Given the description of an element on the screen output the (x, y) to click on. 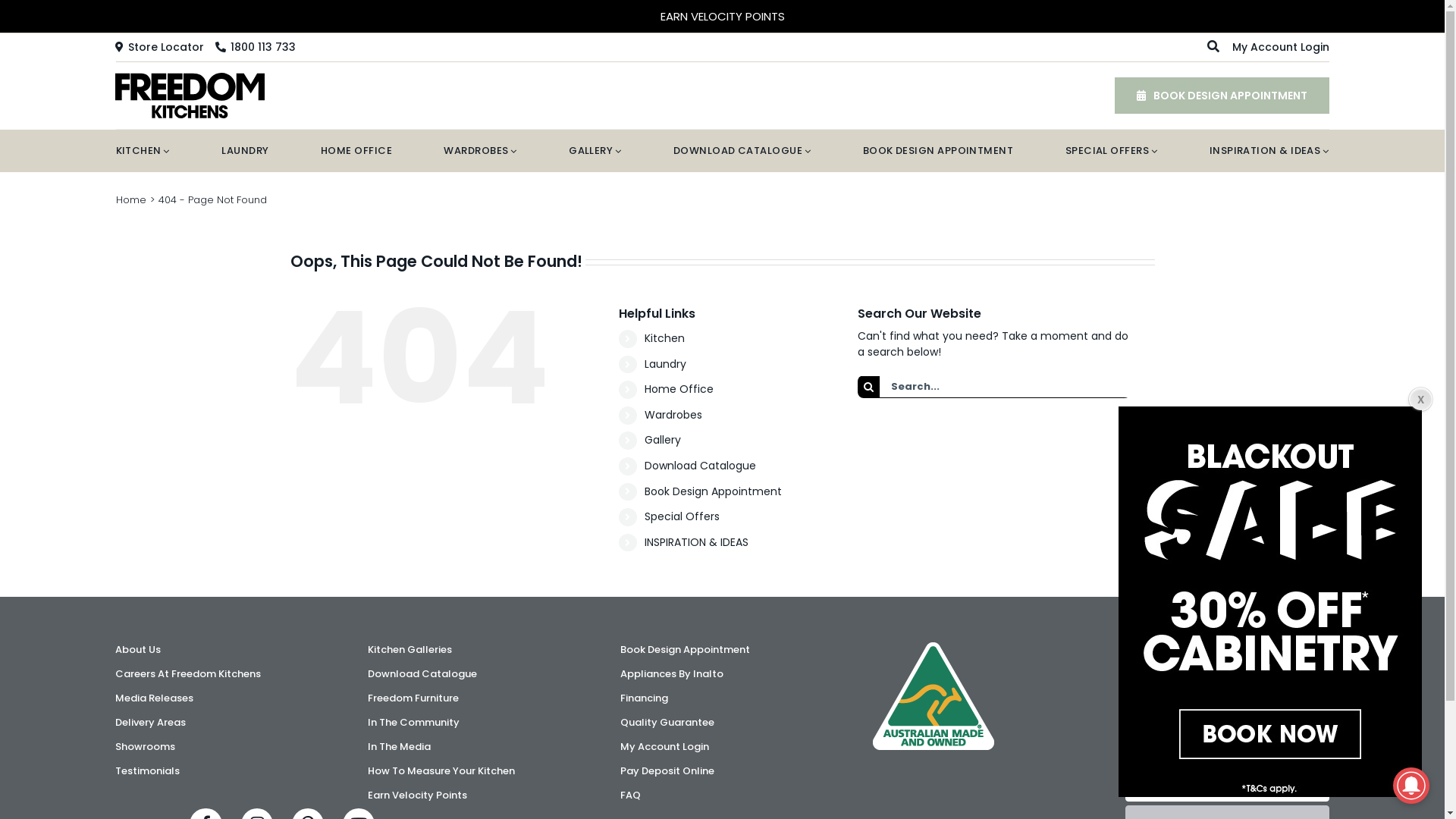
BOOK DESIGN APPOINTMENT Element type: text (937, 150)
KITCHEN Element type: text (142, 150)
Earn Velocity Points Element type: text (469, 795)
How To Measure Your Kitchen Element type: text (469, 770)
My Account Login Element type: text (1280, 46)
Kitchen Galleries Element type: text (469, 649)
Download Catalogue Element type: text (469, 673)
BOOK DESIGN APPOINTMENT Element type: text (1221, 95)
In The Media Element type: text (469, 746)
INSPIRATION & IDEAS Element type: text (1269, 150)
LAUNDRY Element type: text (244, 150)
Home Office Element type: text (678, 388)
Testimonials Element type: text (217, 770)
My Account Login Element type: text (722, 746)
About Us Element type: text (217, 649)
30% OFF CABINETRY Element type: text (722, 15)
Financing Element type: text (722, 698)
Freedom Furniture Element type: text (469, 698)
DOWNLOAD CATALOGUE Element type: text (741, 150)
FAQ Element type: text (722, 795)
Showrooms Element type: text (217, 746)
Home Element type: text (130, 199)
1800 113 733 Element type: text (255, 46)
Appliances By Inalto Element type: text (722, 673)
Careers At Freedom Kitchens Element type: text (217, 673)
HOME OFFICE Element type: text (356, 150)
Kitchen Element type: text (664, 337)
Quality Guarantee Element type: text (722, 722)
Gallery Element type: text (662, 439)
WARDROBES Element type: text (479, 150)
Book Design Appointment Element type: text (712, 490)
Delivery Areas Element type: text (217, 722)
SPECIAL OFFERS Element type: text (1111, 150)
Wardrobes Element type: text (673, 414)
Special Offers Element type: text (681, 516)
Media Releases Element type: text (217, 698)
Store Locator Element type: text (159, 46)
INSPIRATION & IDEAS Element type: text (696, 541)
Book Design Appointment Element type: text (722, 649)
Pay Deposit Online Element type: text (722, 770)
In The Community Element type: text (469, 722)
GALLERY Element type: text (594, 150)
Download Catalogue Element type: text (700, 465)
Laundry Element type: text (665, 363)
